Given the description of an element on the screen output the (x, y) to click on. 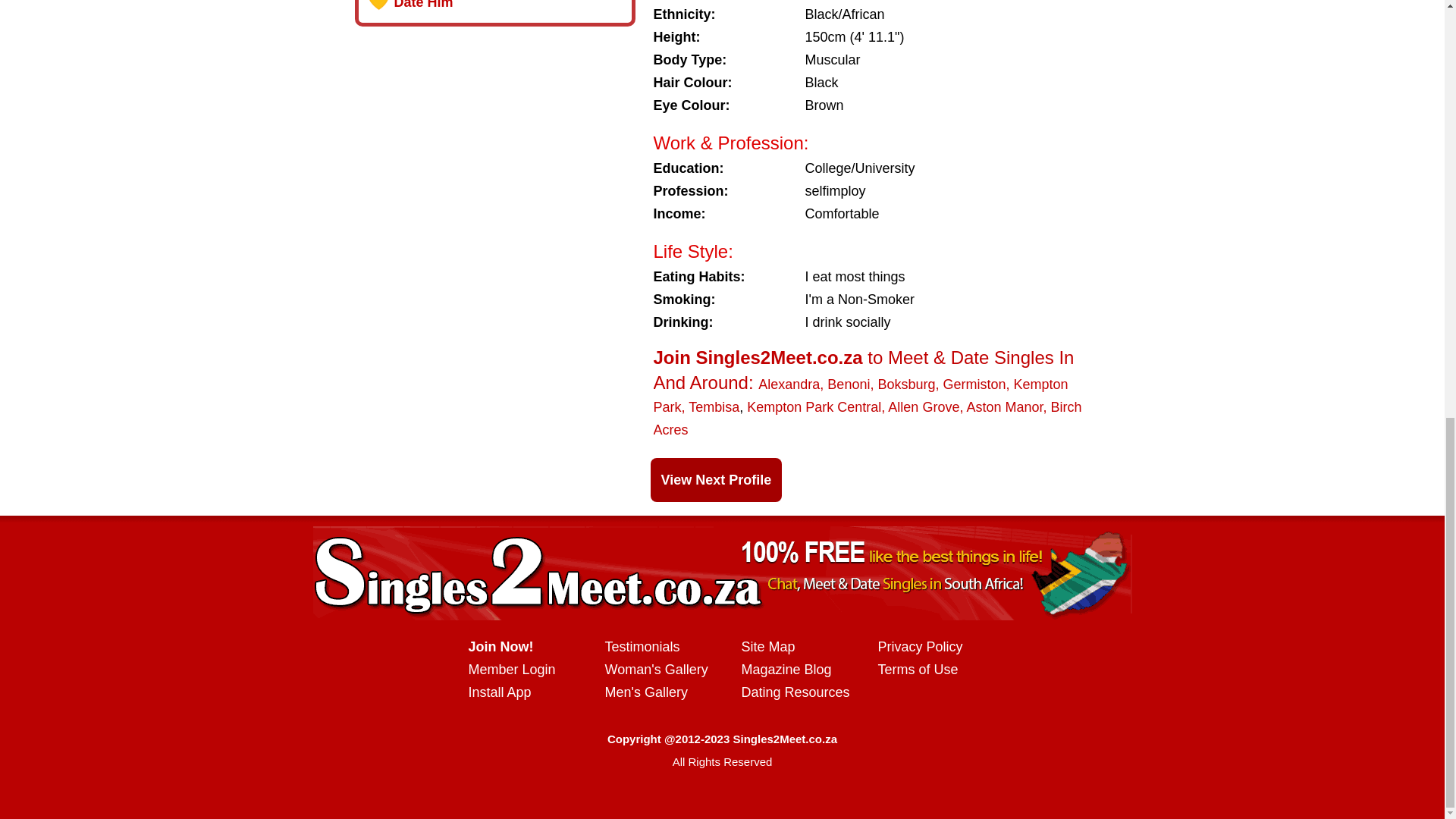
Men's Gallery (646, 692)
Birch Acres (867, 418)
Magazine Blog (786, 669)
Member Login (512, 669)
Privacy Policy (919, 646)
Allen Grove (923, 406)
Germiston (974, 384)
Site Map (767, 646)
Boksburg (905, 384)
Woman's Gallery (656, 669)
